Given the description of an element on the screen output the (x, y) to click on. 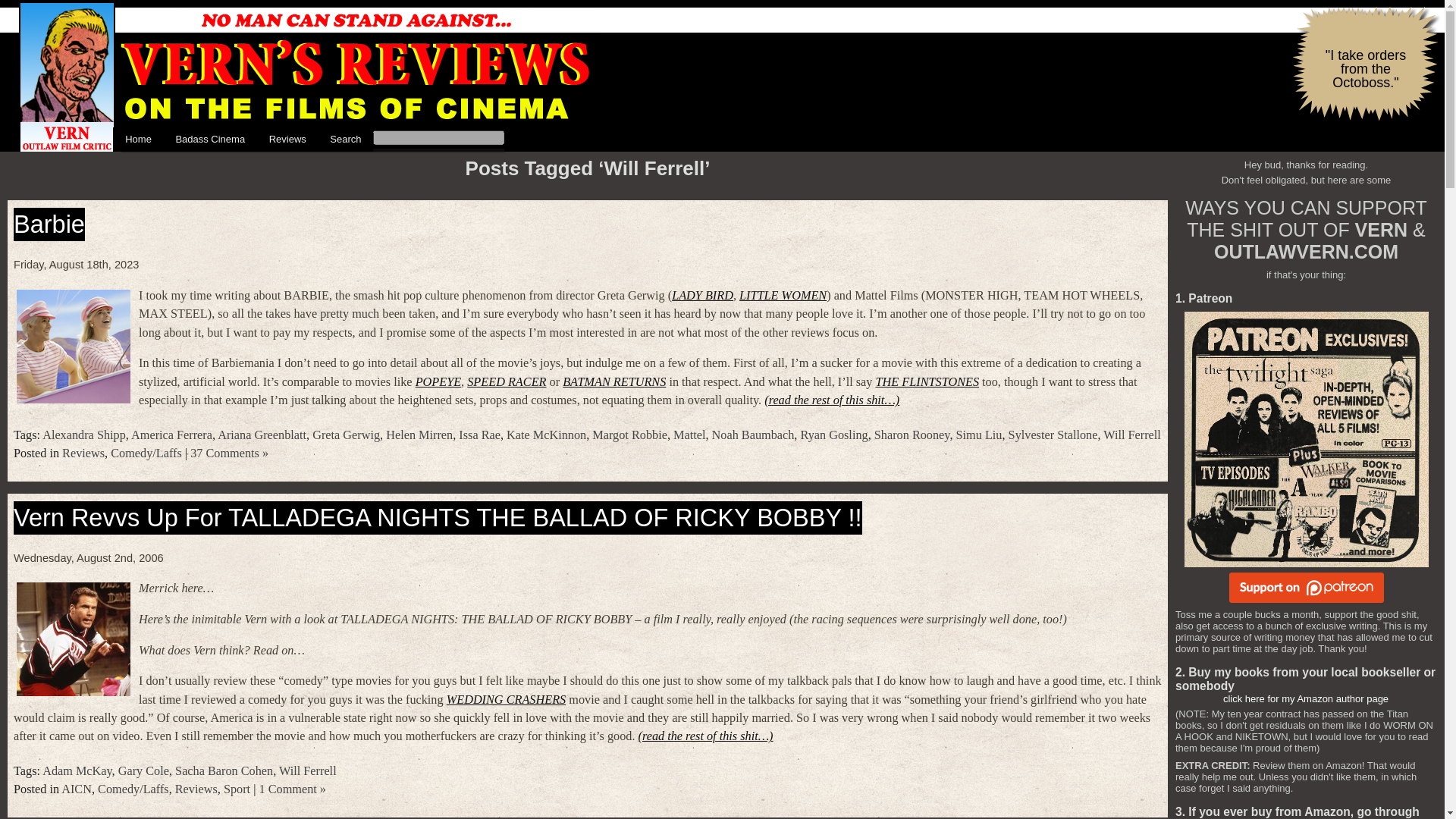
Permanent Link to Barbie (48, 224)
Home (138, 139)
